Given the description of an element on the screen output the (x, y) to click on. 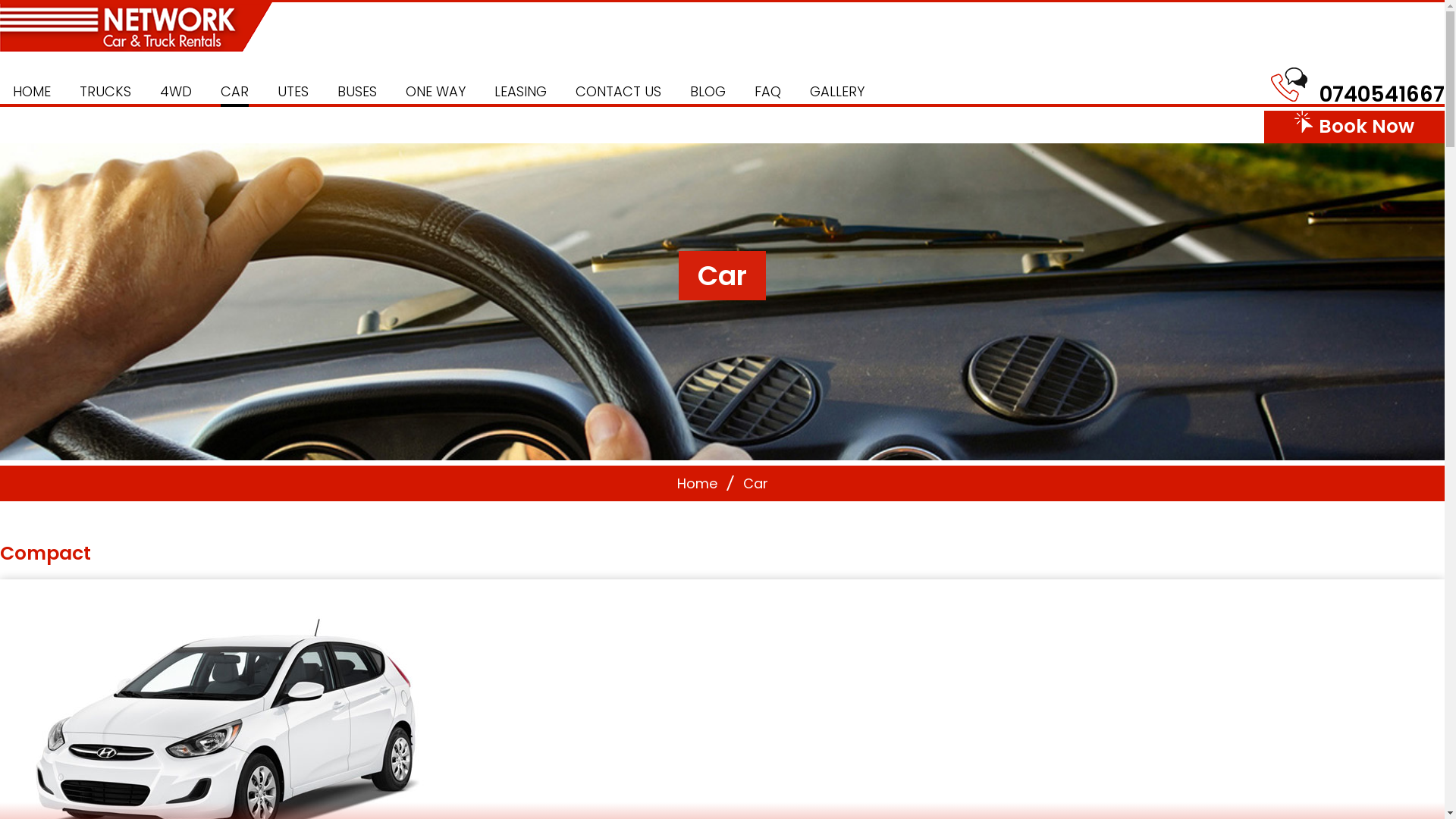
CONTACT US Element type: text (618, 91)
4WD Element type: text (175, 91)
TRUCKS Element type: text (105, 91)
FAQ Element type: text (767, 91)
BUSES Element type: text (356, 91)
Book Now Element type: text (1354, 126)
LEASING Element type: text (520, 91)
UTES Element type: text (292, 91)
0740541667 Element type: text (1381, 94)
Compact Element type: text (45, 552)
GALLERY Element type: text (836, 91)
HOME Element type: text (31, 91)
BLOG Element type: text (707, 91)
CAR Element type: text (234, 91)
ONE WAY Element type: text (435, 91)
Home Element type: text (696, 482)
